Given the description of an element on the screen output the (x, y) to click on. 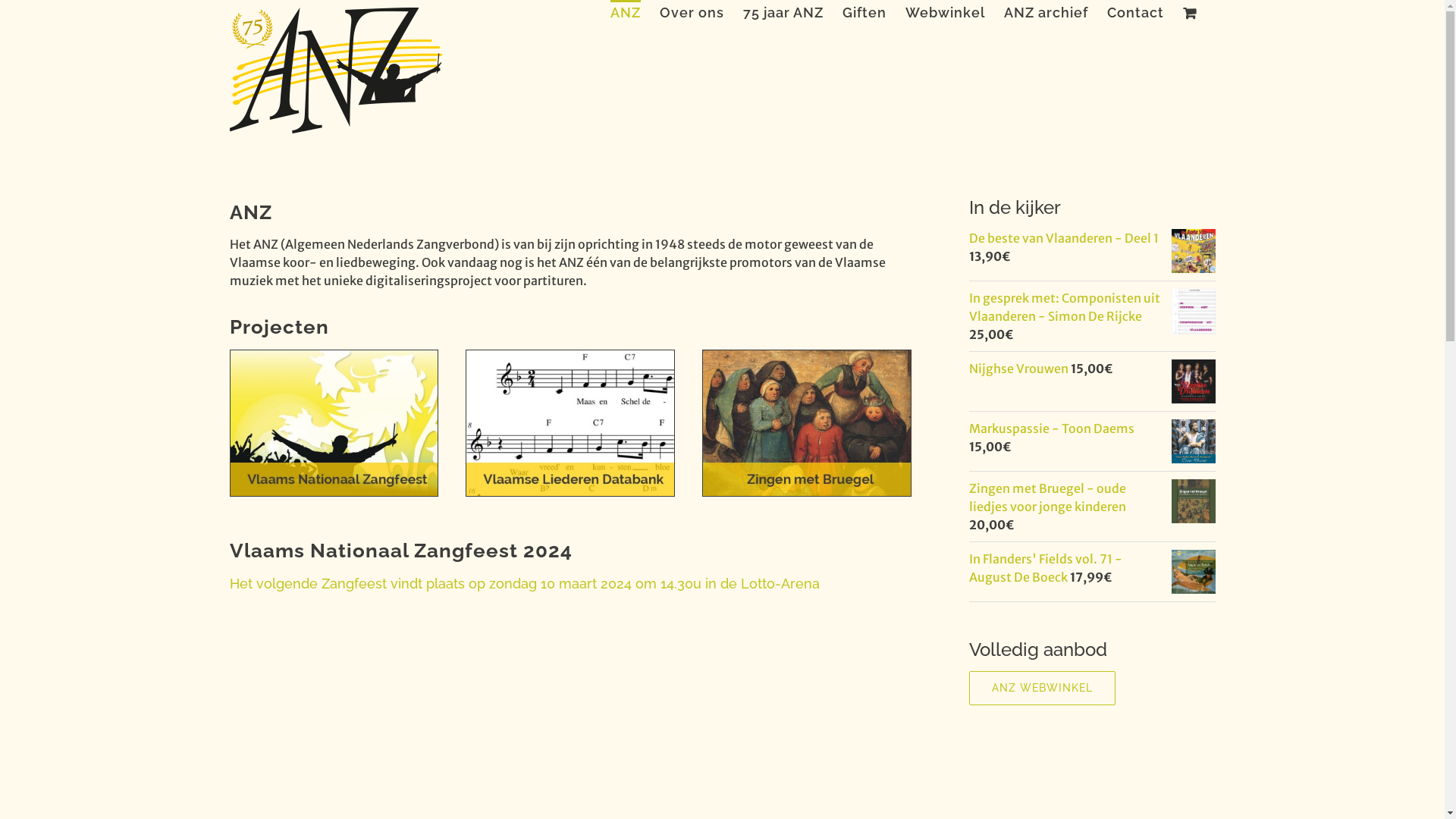
Giften Element type: text (863, 11)
In gesprek met: Componisten uit Vlaanderen - Simon De Rijcke Element type: text (1064, 306)
75 jaar ANZ Element type: text (783, 11)
Nijghse Vrouwen Element type: text (1019, 368)
ANZ archief Element type: text (1046, 11)
Contact Element type: text (1135, 11)
Markuspassie - Toon Daems Element type: text (1051, 428)
ANZ WEBWINKEL Element type: text (1042, 688)
De beste van Vlaanderen - Deel 1 Element type: text (1063, 237)
Zingen met Bruegel - oude liedjes voor jonge kinderen Element type: text (1047, 497)
In Flanders' Fields vol. 71 - August De Boeck Element type: text (1045, 567)
ANZ Element type: text (624, 11)
Webwinkel Element type: text (945, 11)
Over ons Element type: text (691, 11)
